Given the description of an element on the screen output the (x, y) to click on. 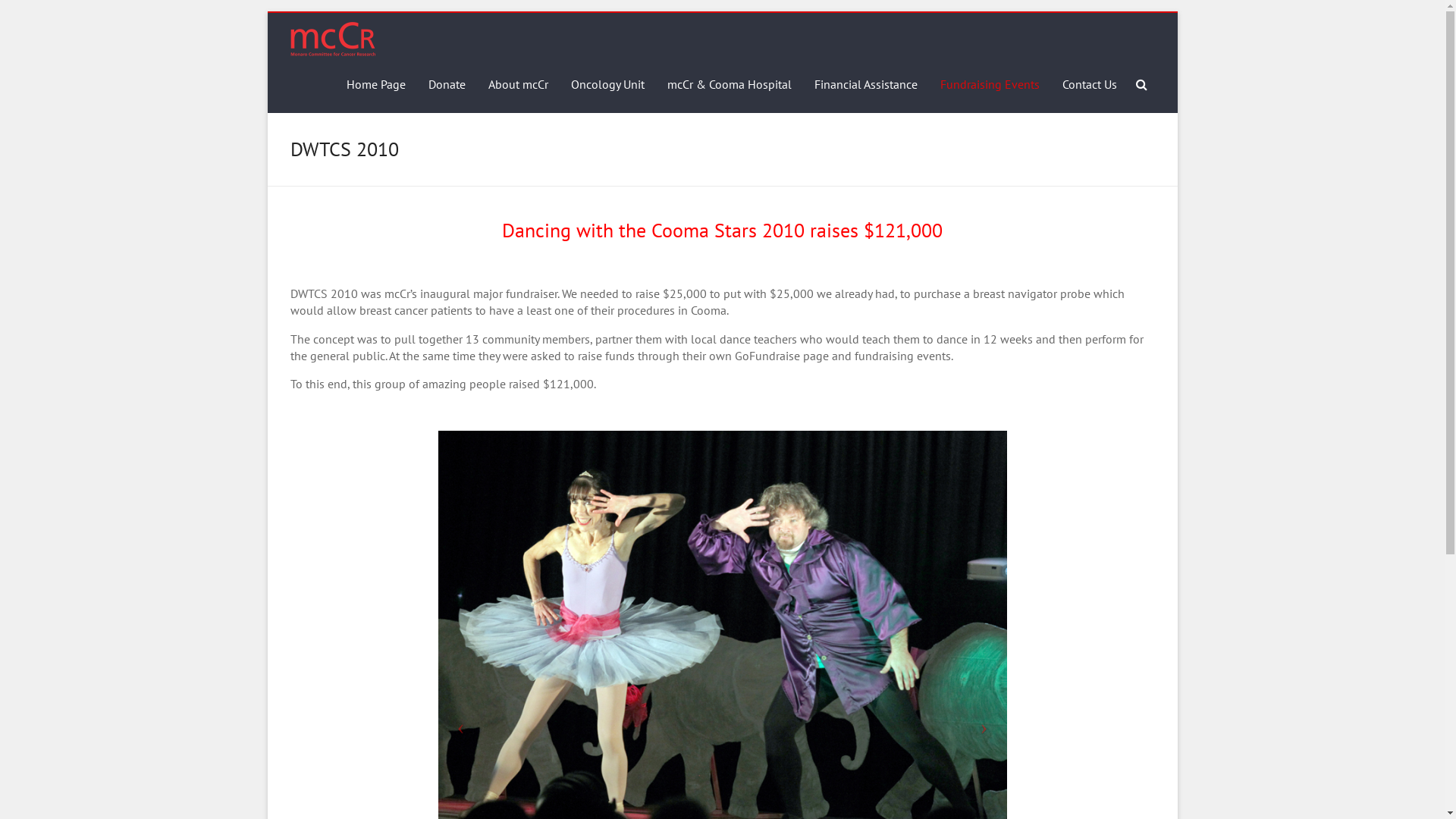
mcCr & Cooma Hospital Element type: text (729, 84)
Financial Assistance Element type: text (865, 84)
Donate Element type: text (445, 84)
About mcCr Element type: text (518, 84)
Fundraising Events Element type: text (989, 84)
Oncology Unit Element type: text (606, 84)
Skip to content Element type: text (266, 10)
Home Page Element type: text (374, 84)
Contact Us Element type: text (1088, 84)
